Given the description of an element on the screen output the (x, y) to click on. 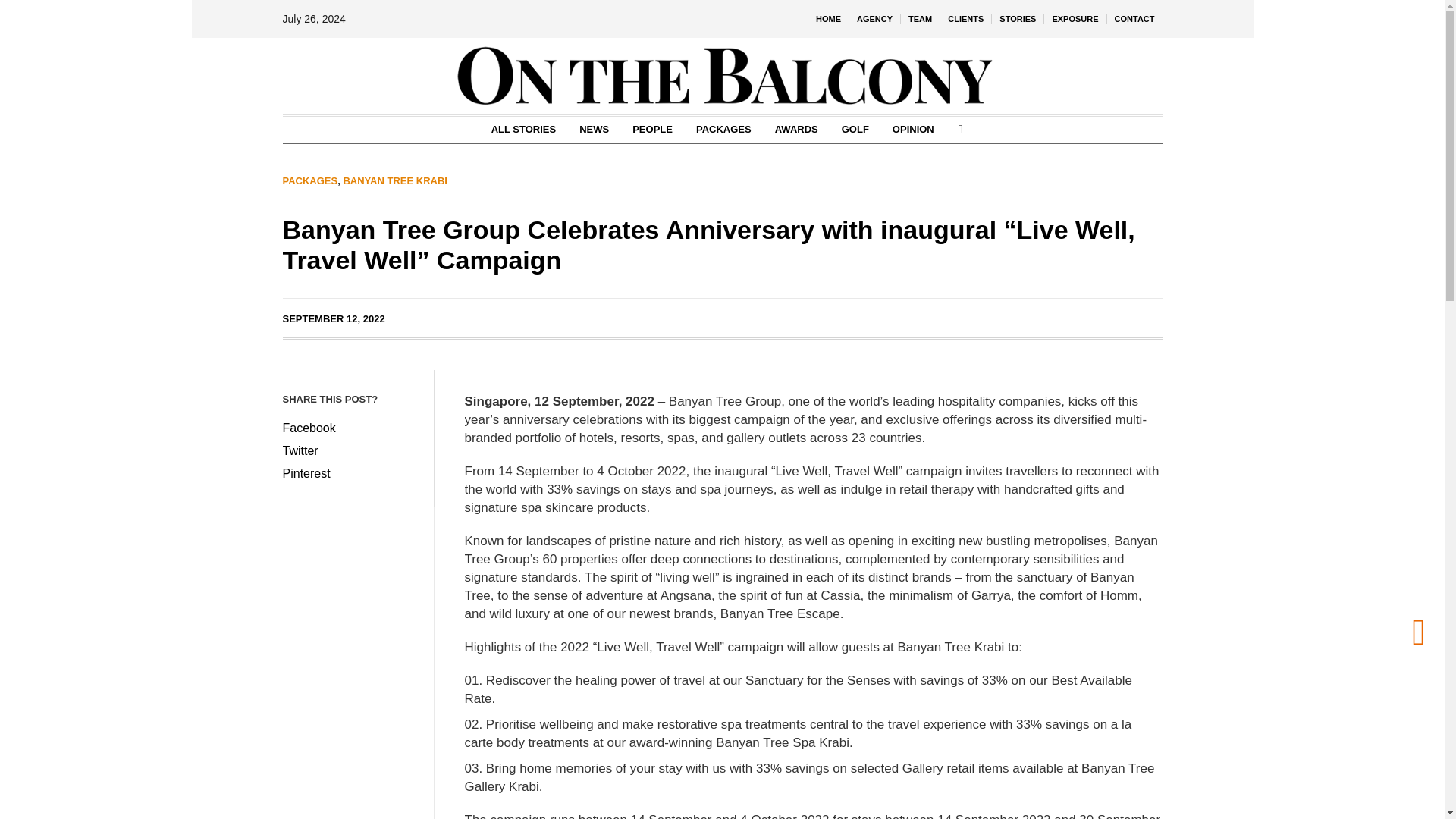
BANYAN TREE KRABI (394, 180)
Twitter (349, 450)
TEAM (920, 18)
NEWS (593, 129)
STORIES (1017, 18)
September 12, 2022 (333, 318)
PEOPLE (652, 129)
AWARDS (795, 129)
HOME (828, 18)
Facebook (349, 427)
CONTACT (1133, 18)
PACKAGES (309, 180)
Pinterest (349, 473)
OPINION (912, 129)
EXPOSURE (1074, 18)
